Given the description of an element on the screen output the (x, y) to click on. 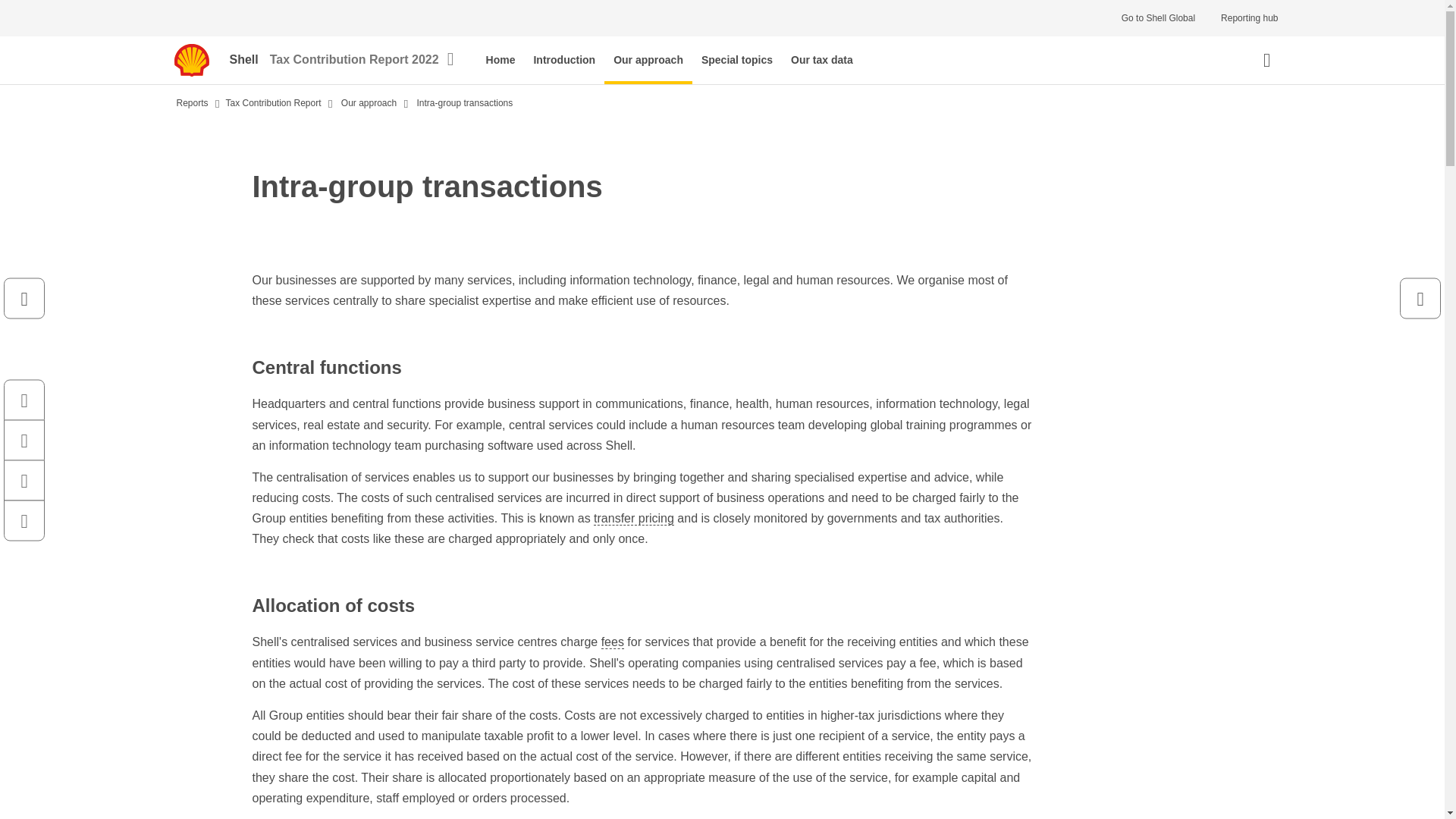
Go to Shell Global (1158, 18)
Reporting hub (1249, 18)
Shell (248, 59)
Tax Contribution Report 2022 (361, 59)
Home (500, 60)
Our approach (648, 60)
Introduction (564, 60)
